Given the description of an element on the screen output the (x, y) to click on. 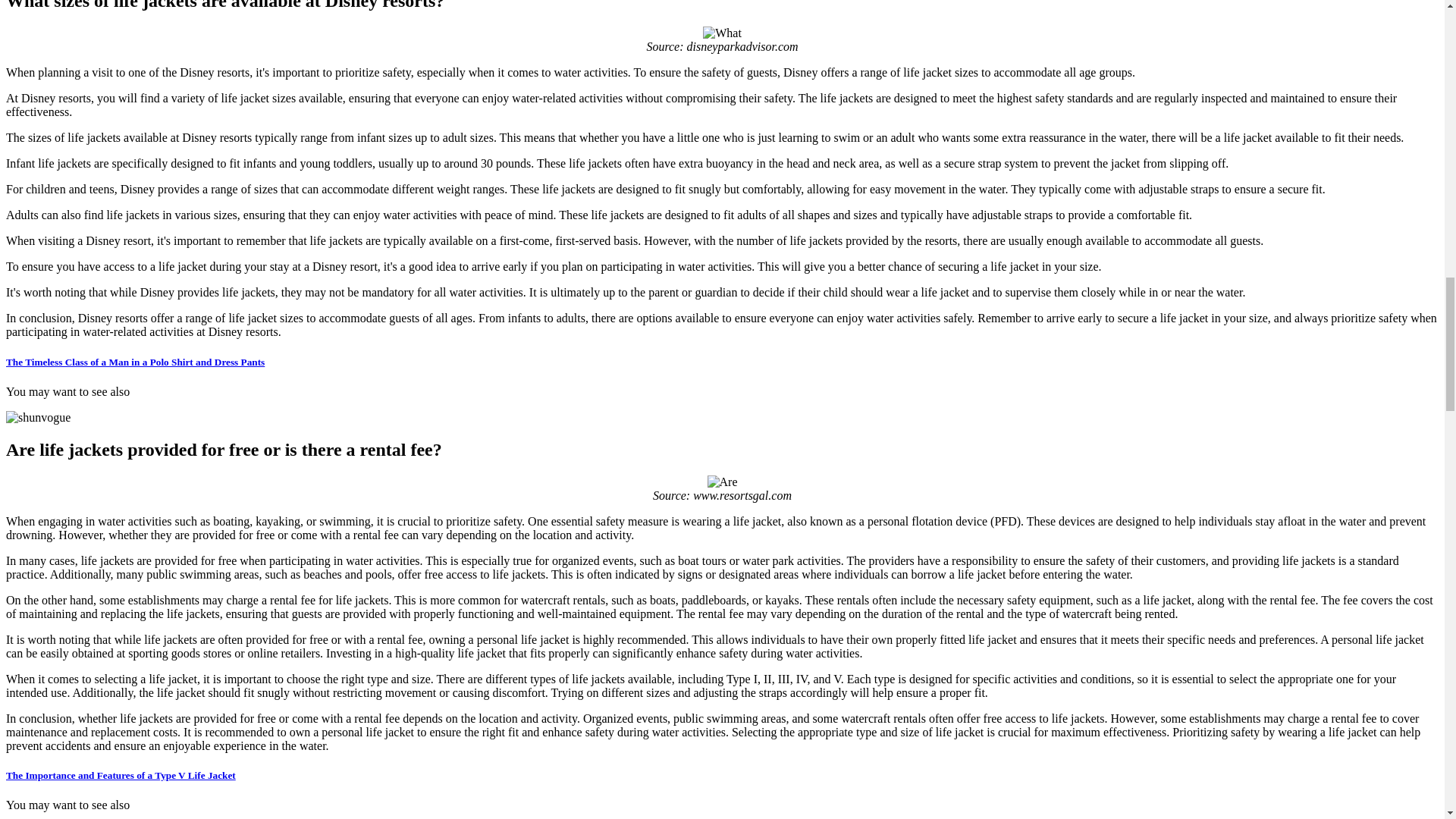
The Importance and Features of a Type V Life Jacket (120, 775)
The Timeless Class of a Man in a Polo Shirt and Dress Pants (134, 361)
